Given the description of an element on the screen output the (x, y) to click on. 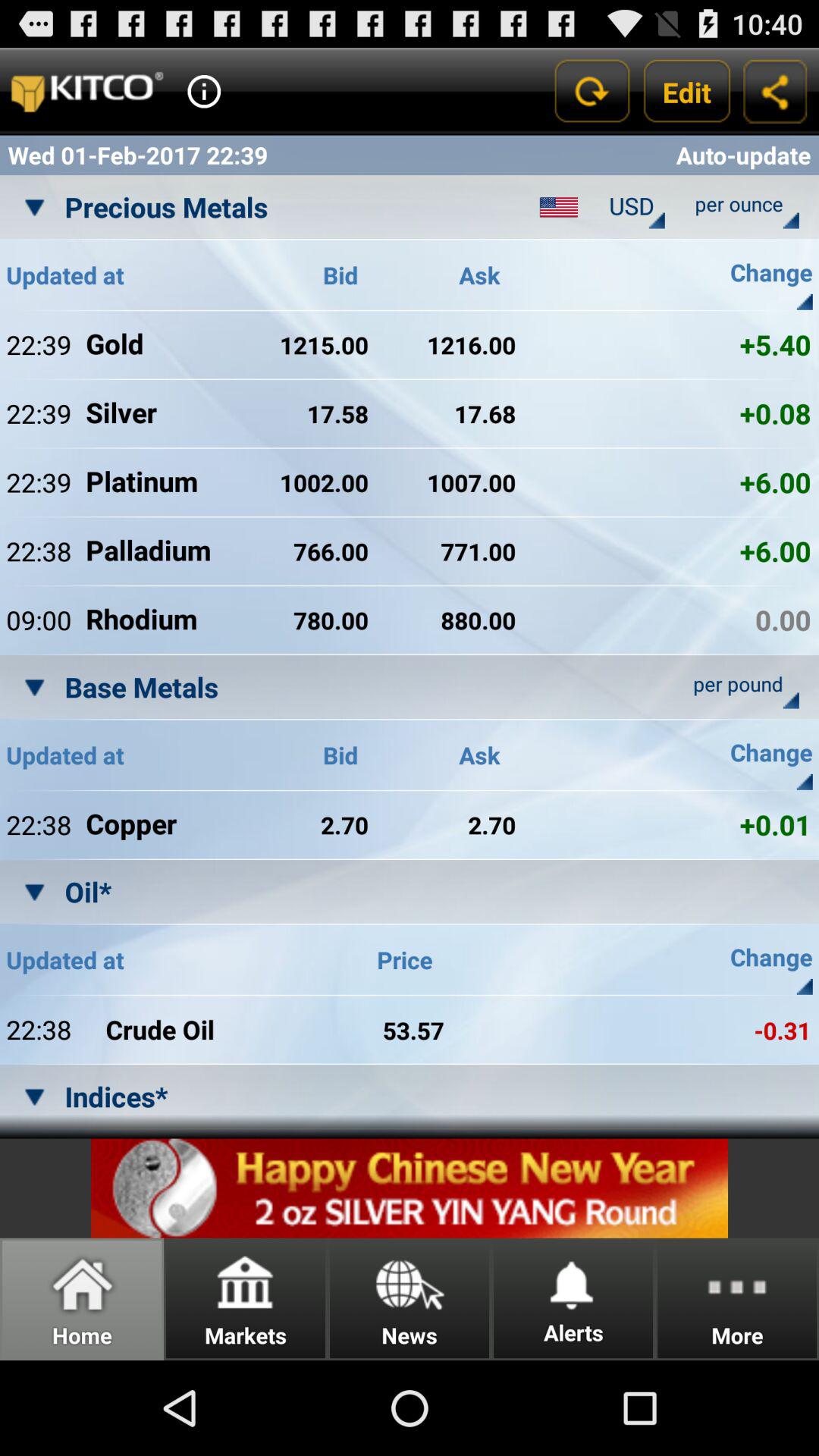
advertisement (409, 1188)
